Given the description of an element on the screen output the (x, y) to click on. 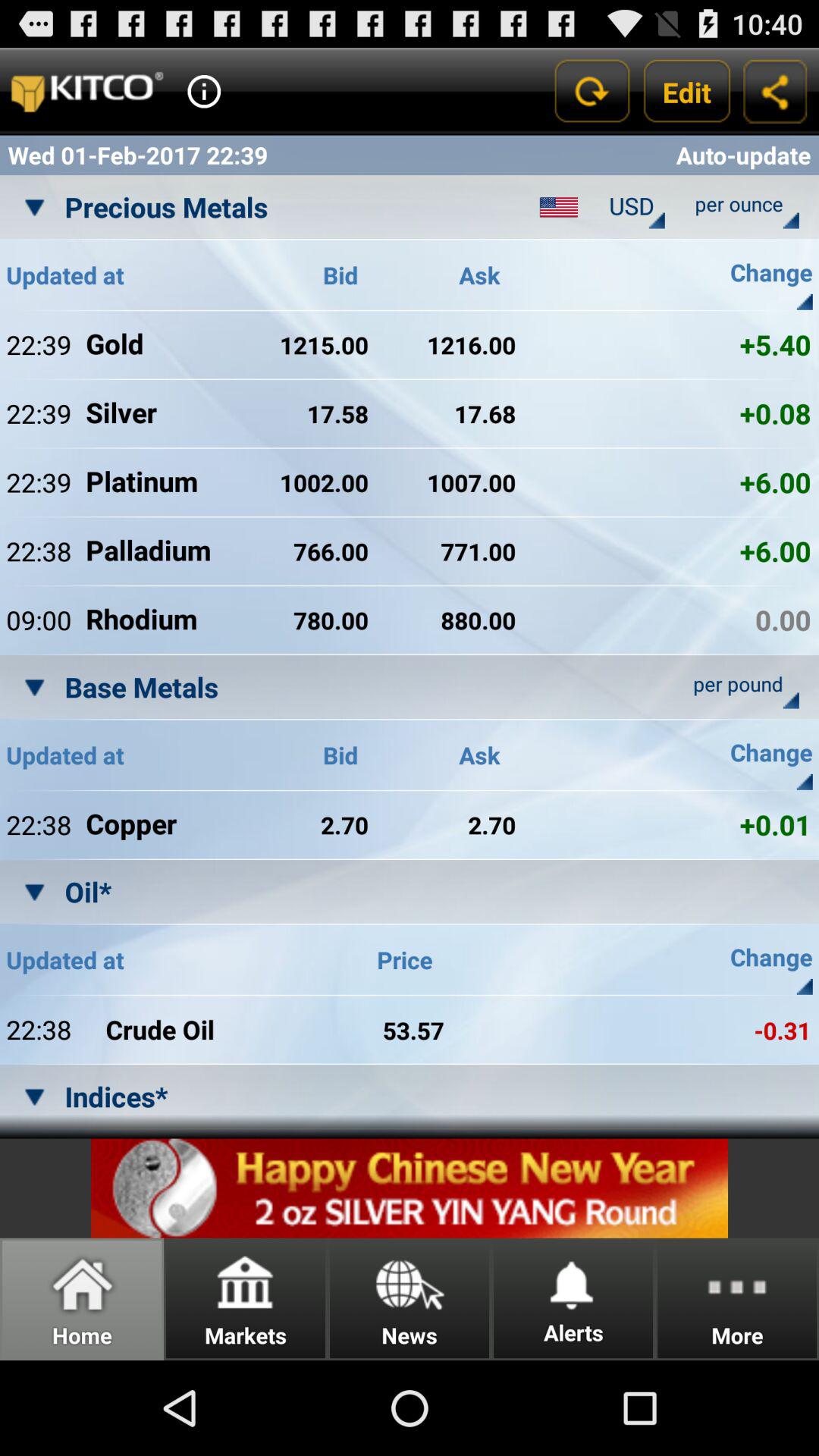
advertisement (409, 1188)
